Given the description of an element on the screen output the (x, y) to click on. 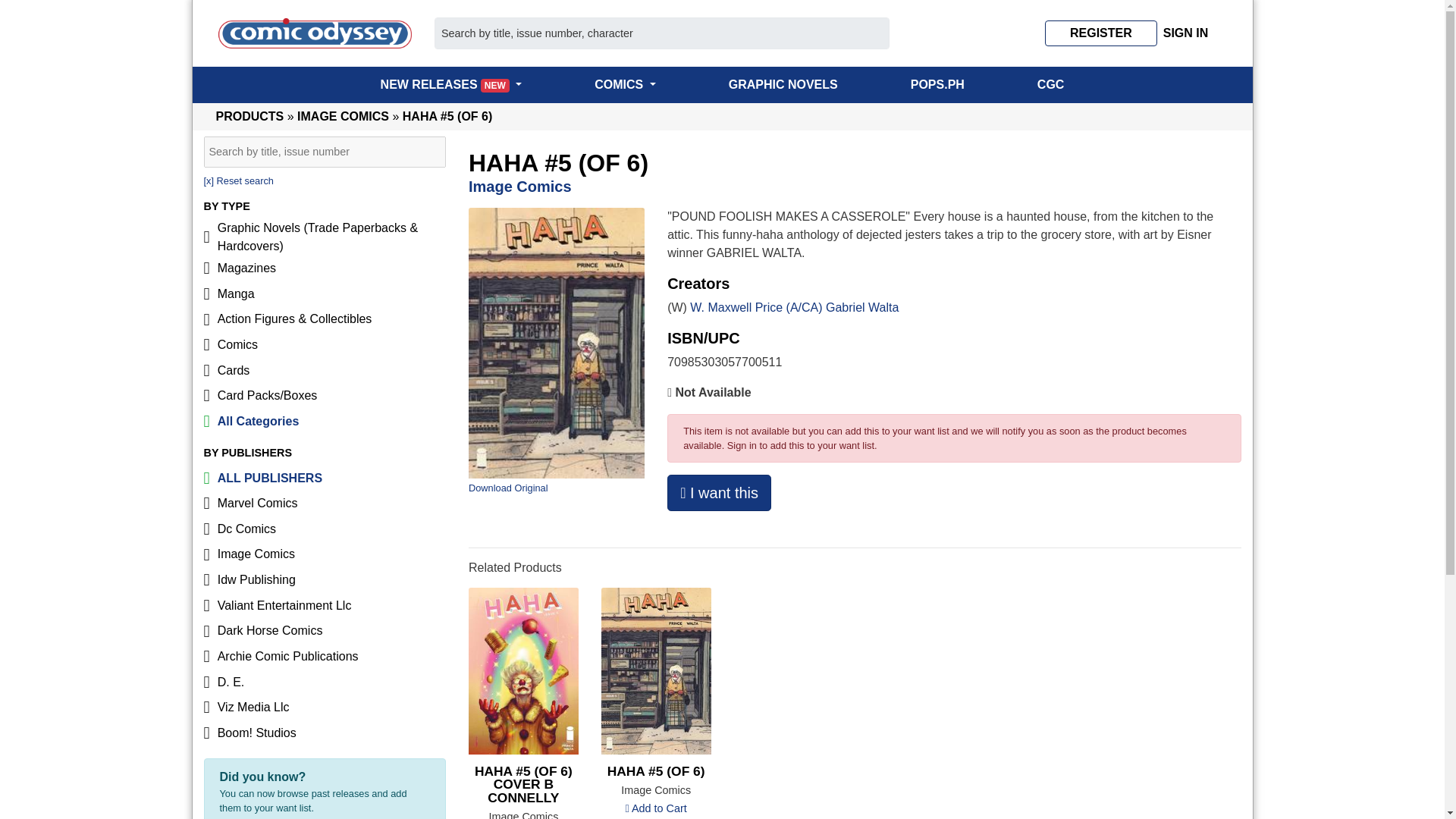
Image Comics (324, 555)
Idw Publishing (324, 579)
POPS.PH (938, 84)
GRAPHIC NOVELS (784, 84)
Marvel Comics (324, 503)
Dc Comics (324, 529)
Cards (324, 370)
Comics (324, 344)
CGC (1050, 84)
SIGN IN (1185, 33)
Magazines (324, 268)
NEW RELEASES NEW (451, 84)
IMAGE COMICS (342, 115)
Manga (324, 294)
PRODUCTS (249, 115)
